Given the description of an element on the screen output the (x, y) to click on. 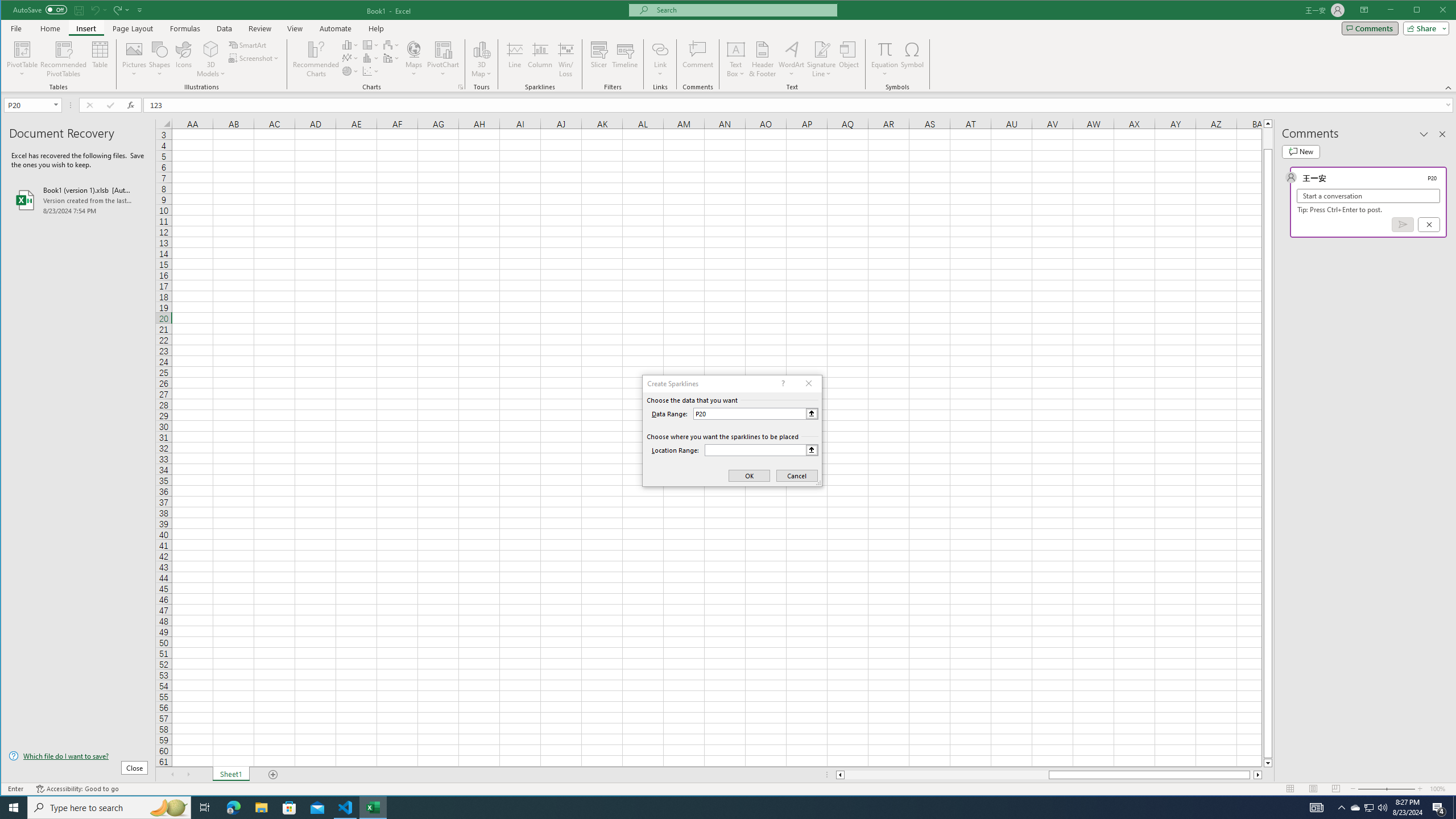
Insert Line or Area Chart (350, 57)
3D Map (481, 59)
Pictures (134, 59)
Draw Horizontal Text Box (735, 48)
PivotChart (443, 48)
3D Models (211, 59)
Cancel (1428, 224)
3D Map (481, 48)
Post comment (Ctrl + Enter) (1402, 224)
Header & Footer... (762, 59)
Start a conversation (1368, 195)
